Given the description of an element on the screen output the (x, y) to click on. 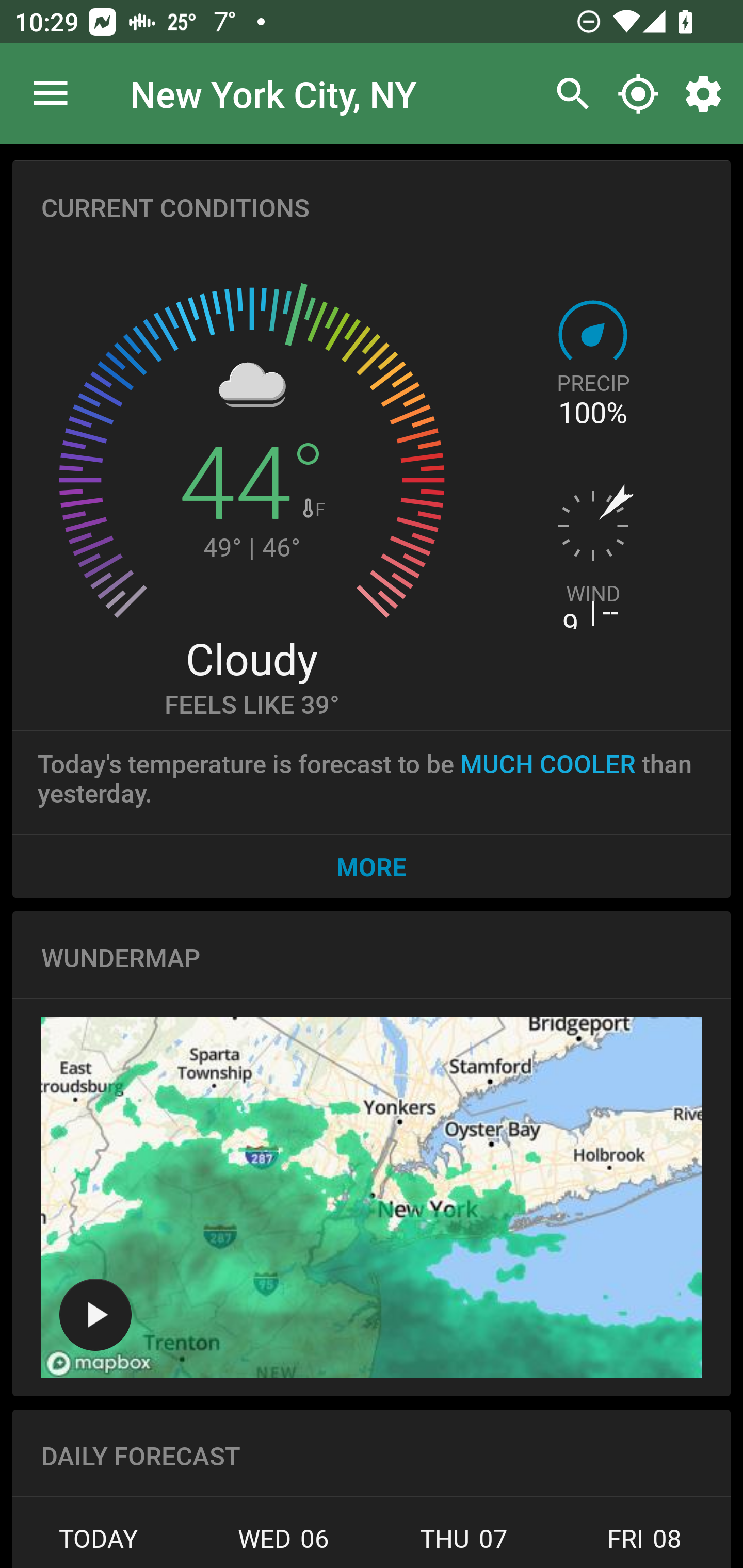
Press to open location manager. (50, 93)
Search for location (567, 94)
Select GPS location (637, 94)
Settings (706, 94)
New York City, NY (273, 92)
100% (592, 412)
Cloudy (251, 657)
MORE (371, 865)
Weather Map (371, 1197)
Weather Map (95, 1314)
TODAY (102, 1544)
WED 06 (283, 1544)
THU 07 (463, 1544)
FRI 08 (642, 1544)
